Given the description of an element on the screen output the (x, y) to click on. 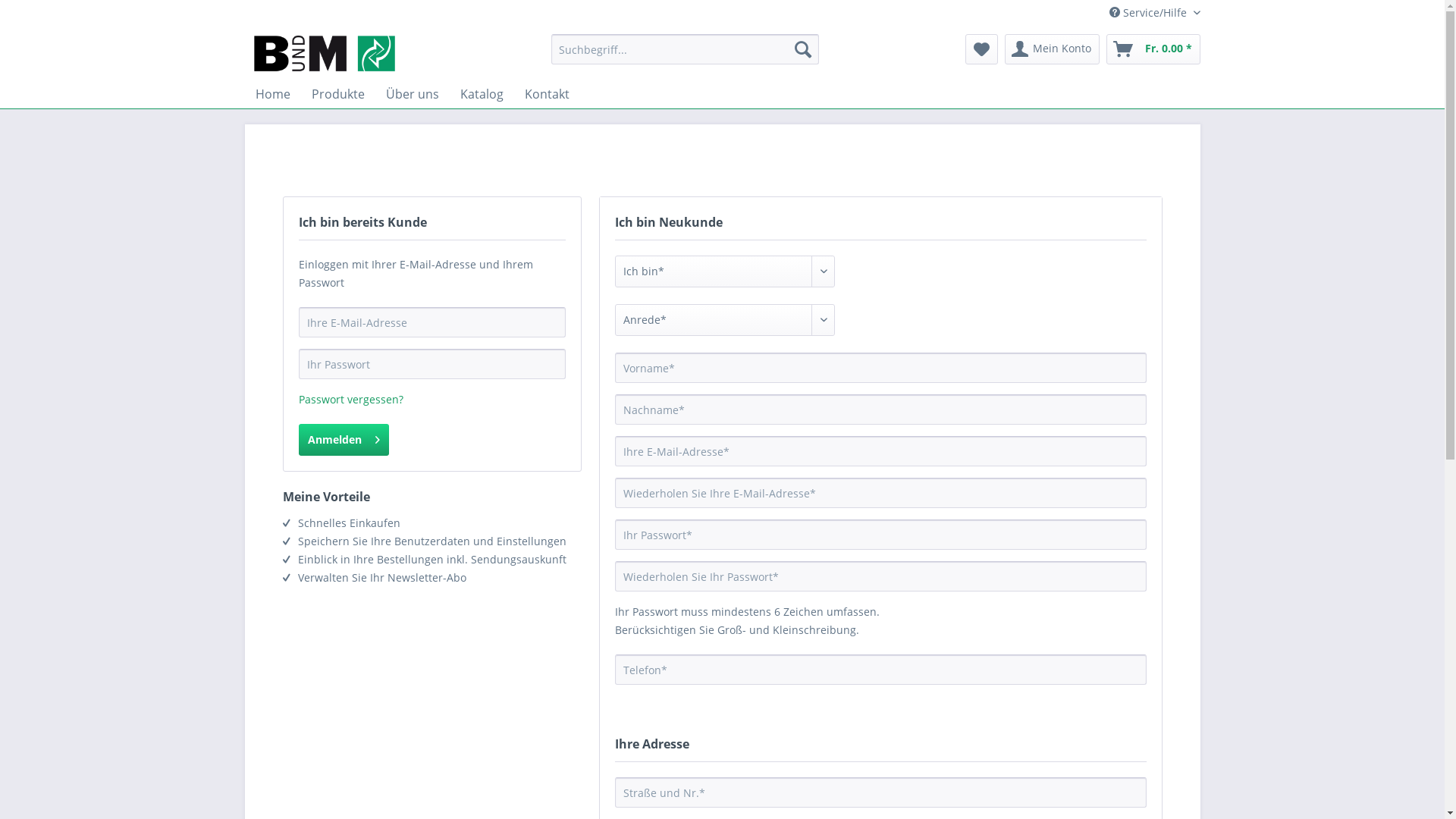
Passwort vergessen? Element type: text (350, 399)
Mein Konto Element type: text (1051, 49)
Anmelden Element type: text (343, 439)
Kontakt Element type: text (547, 93)
Merkzettel Element type: hover (980, 49)
Katalog Element type: text (480, 93)
Fr. 0.00 * Element type: text (1152, 49)
B+M AG - Kunststoff - zur Startseite wechseln Element type: hover (323, 53)
Home Element type: text (272, 93)
Produkte Element type: text (337, 93)
